Given the description of an element on the screen output the (x, y) to click on. 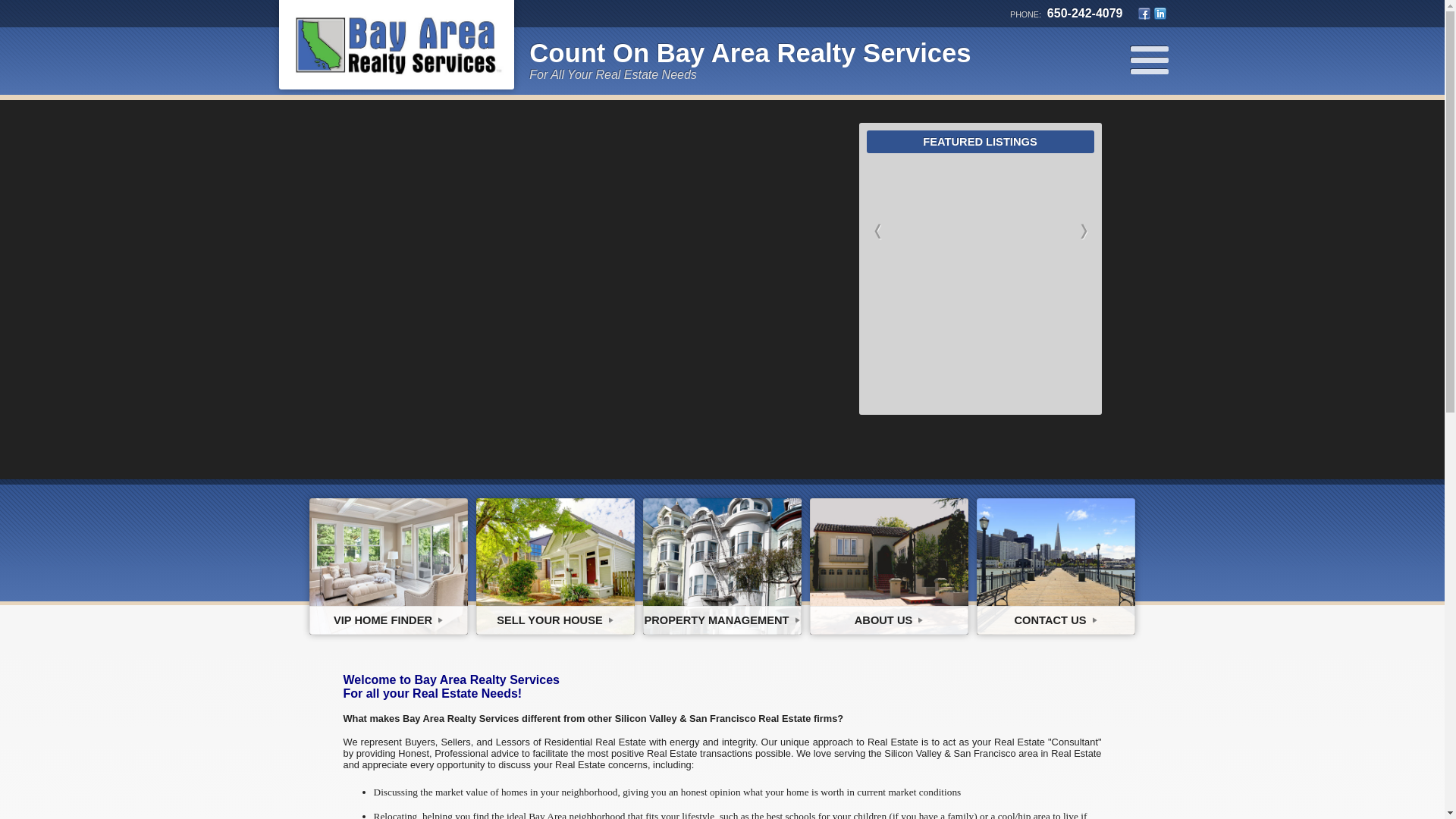
LinkedIn (1160, 13)
SELL YOUR HOUSE (555, 565)
ABOUT US (888, 565)
PROPERTY MANAGEMENT (722, 565)
VIP HOME FINDER (387, 565)
CONTACT US (1055, 565)
Facebook (1143, 13)
